Given the description of an element on the screen output the (x, y) to click on. 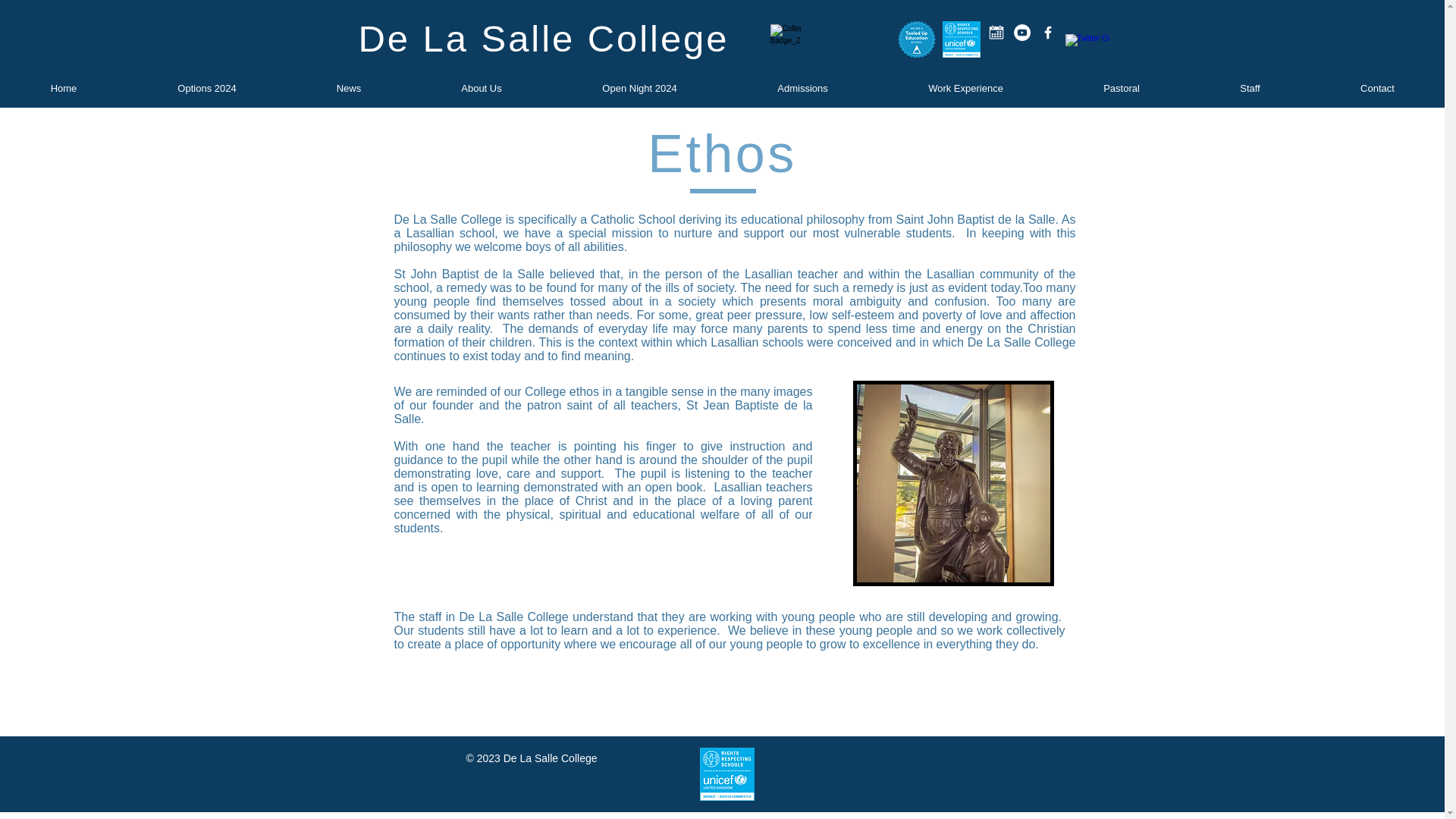
Work Experience (964, 88)
De La Salle College (543, 38)
Options 2024 (207, 88)
Admissions (801, 88)
Open Night 2024 (638, 88)
Home (64, 88)
